Given the description of an element on the screen output the (x, y) to click on. 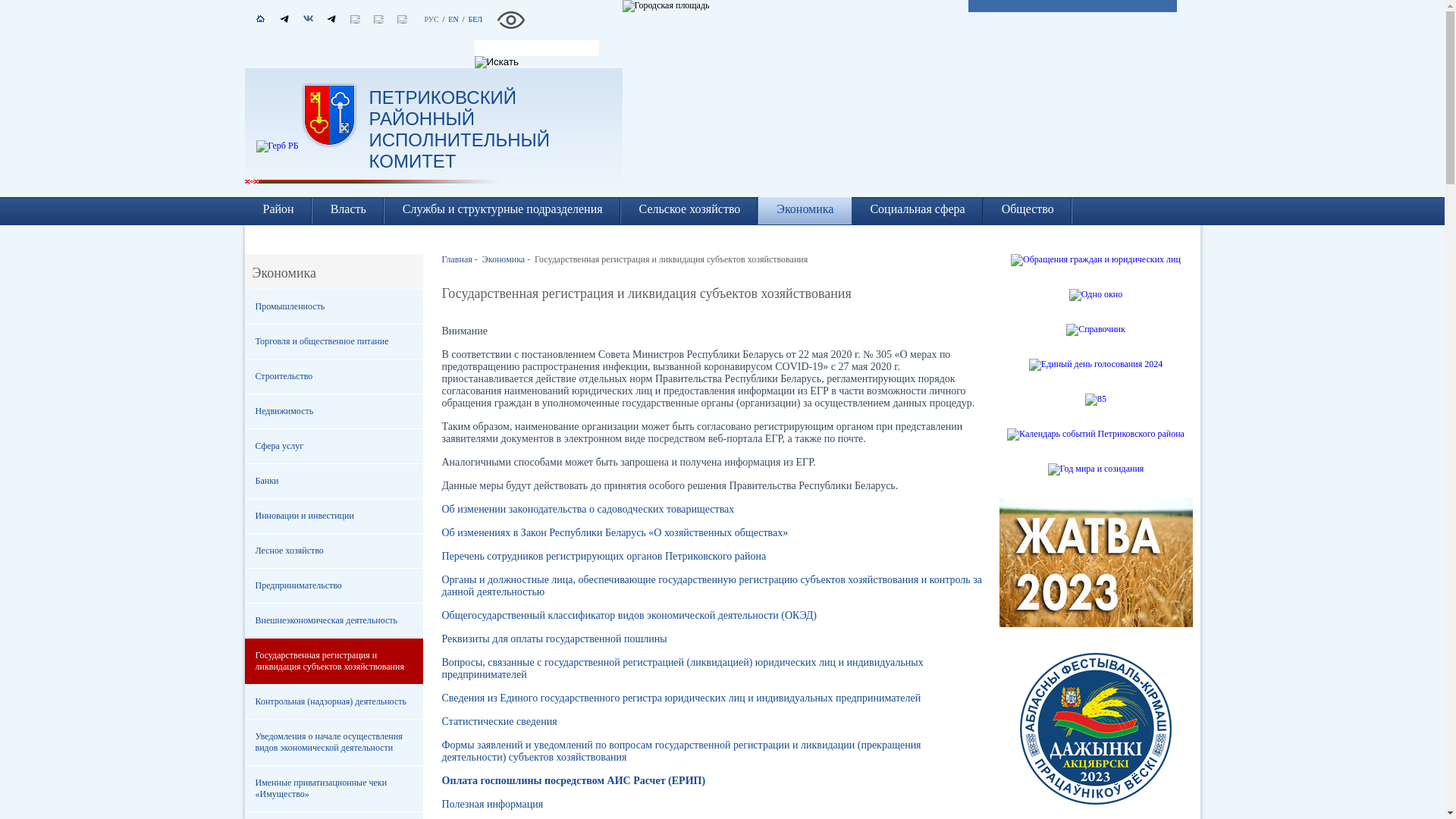
Prev Element type: text (955, 152)
OK Element type: hover (363, 30)
Telegram Element type: hover (338, 20)
EN Element type: text (453, 19)
Next Element type: text (1187, 152)
Instagram Element type: hover (418, 30)
85 Element type: hover (1095, 398)
